Given the description of an element on the screen output the (x, y) to click on. 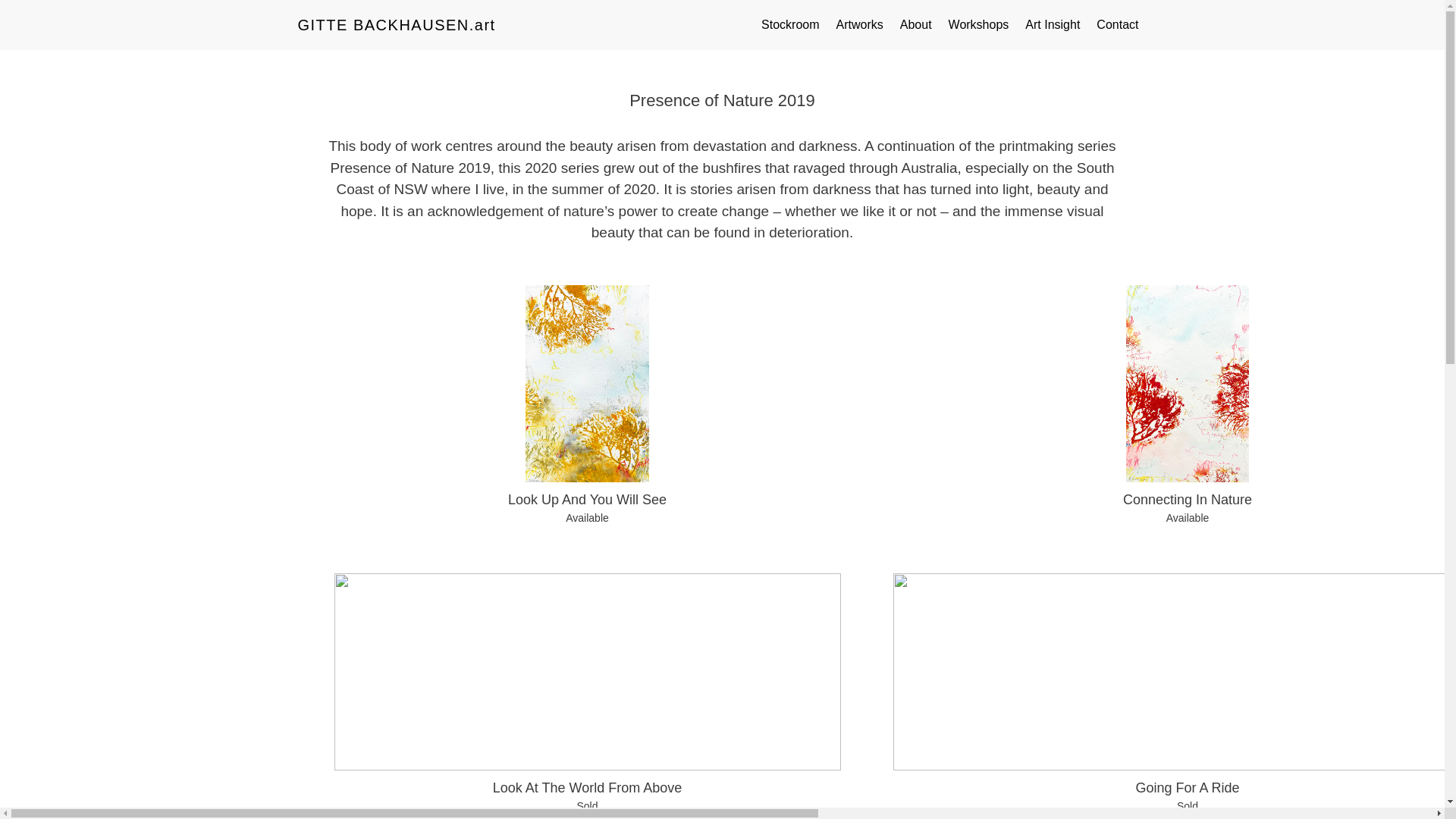
Artworks (859, 24)
Art Insight (1051, 24)
Workshops (978, 24)
Contact (1117, 24)
About (915, 24)
GITTE BACKHAUSEN.art (396, 24)
Stockroom (789, 24)
